Given the description of an element on the screen output the (x, y) to click on. 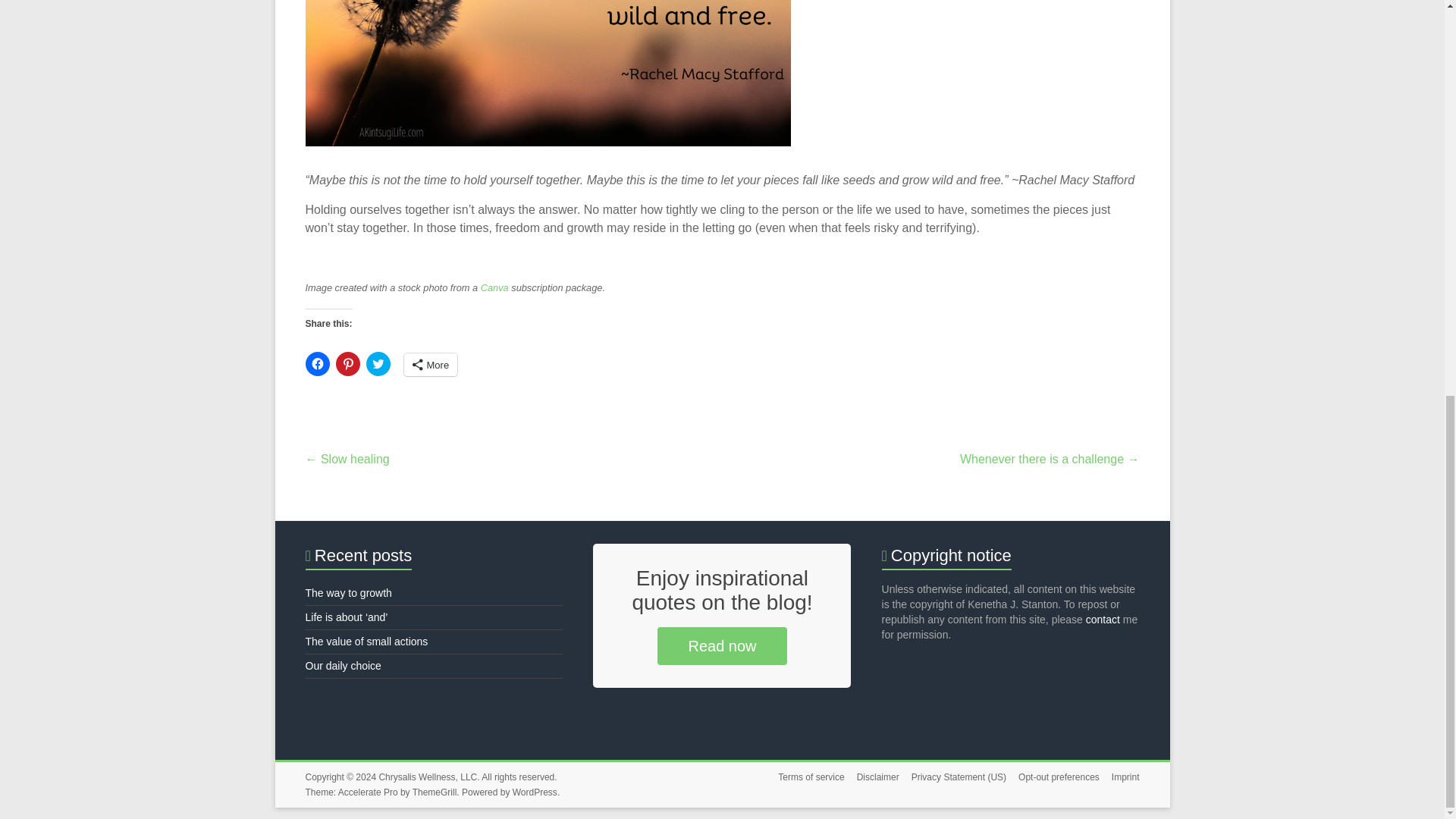
More (430, 363)
Click to share on Twitter (377, 363)
The value of small actions (366, 641)
Click to share on Facebook (316, 363)
The way to growth (347, 592)
Chrysalis Wellness, LLC (427, 777)
Canva (494, 286)
WordPress (534, 792)
Accelerate Pro (367, 792)
Click to share on Pinterest (346, 363)
